Given the description of an element on the screen output the (x, y) to click on. 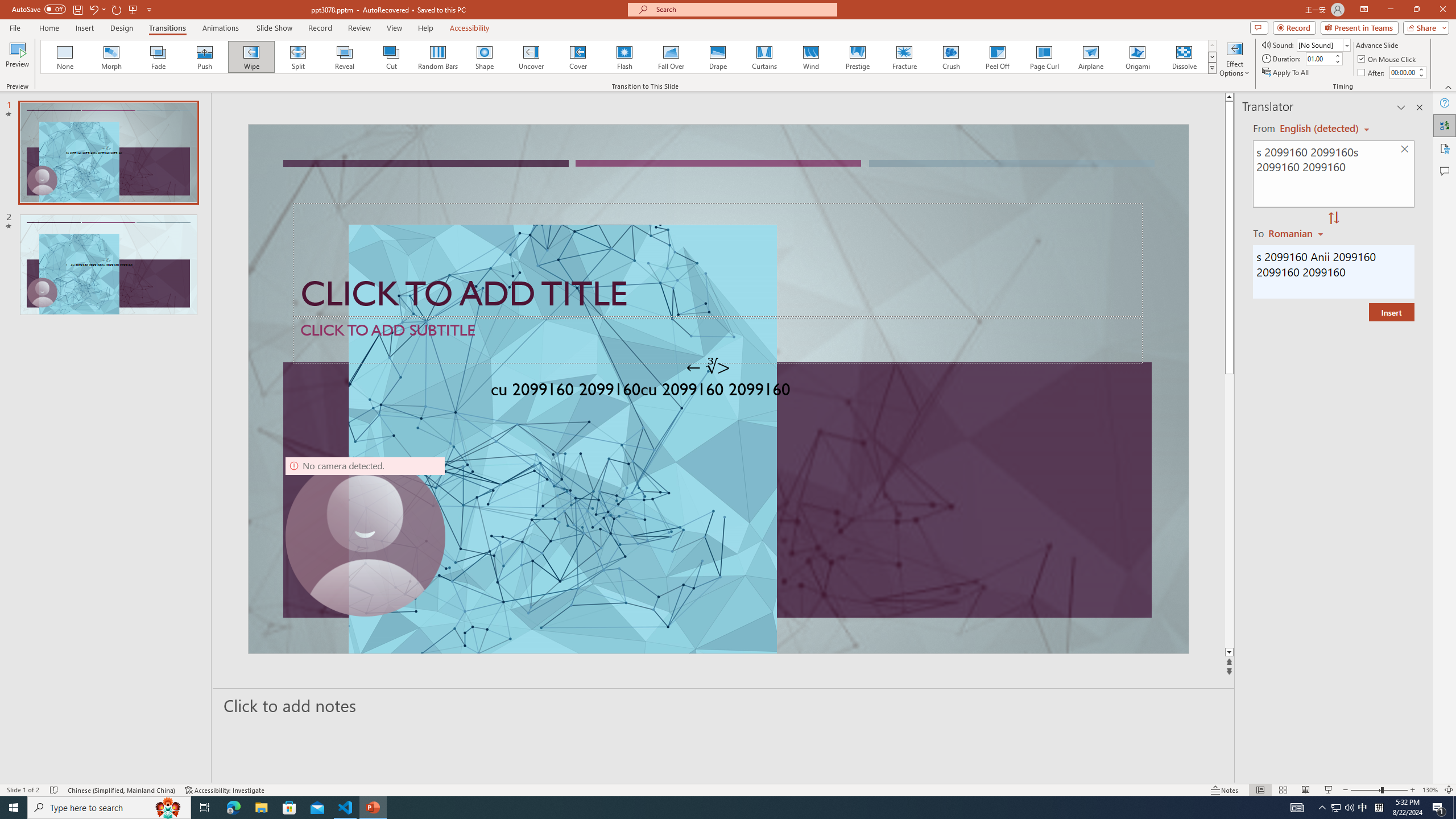
Cover (577, 56)
Sound (1324, 44)
